Given the description of an element on the screen output the (x, y) to click on. 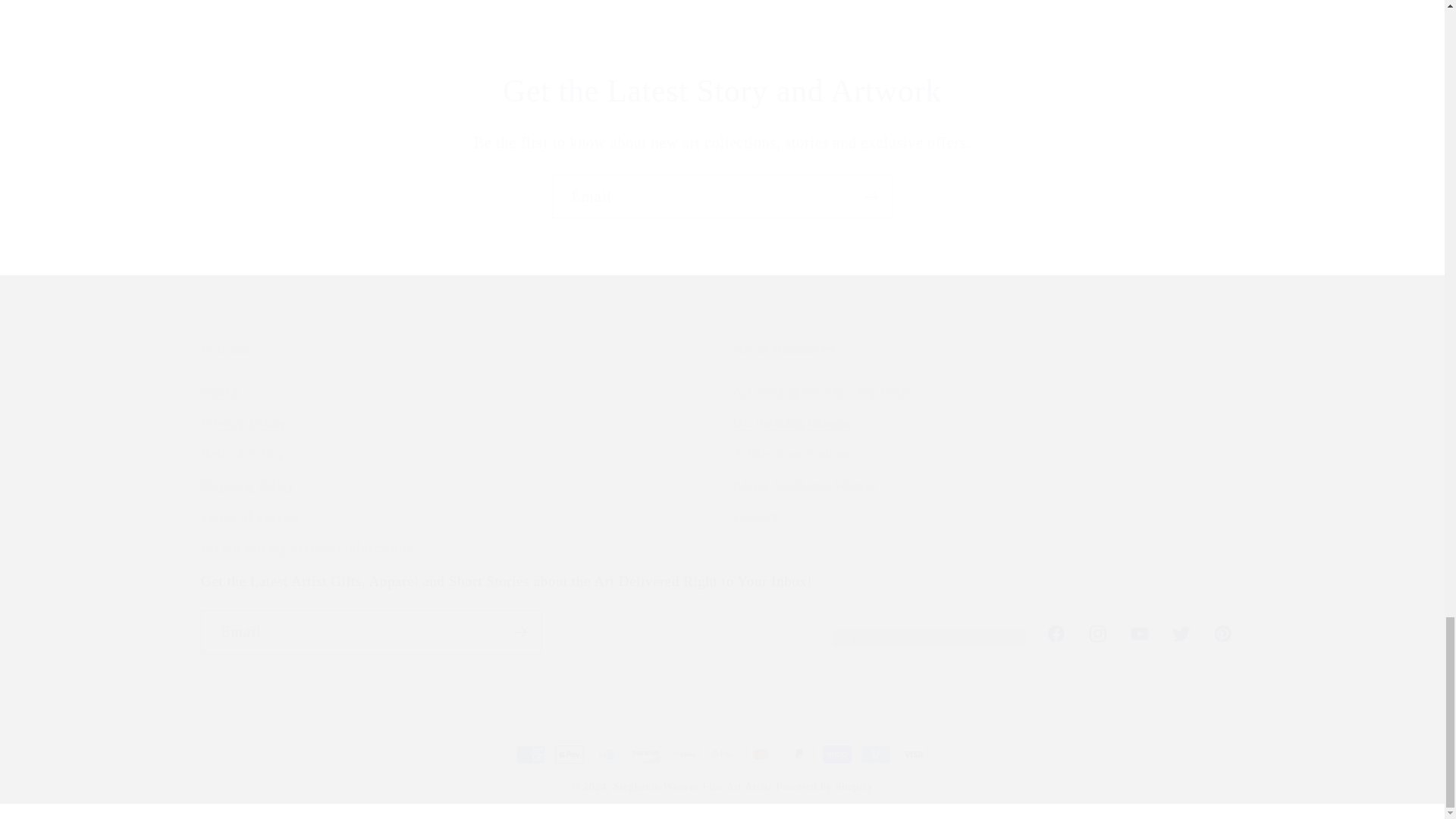
Email (722, 196)
Get the Latest Story and Artwork (721, 91)
